Given the description of an element on the screen output the (x, y) to click on. 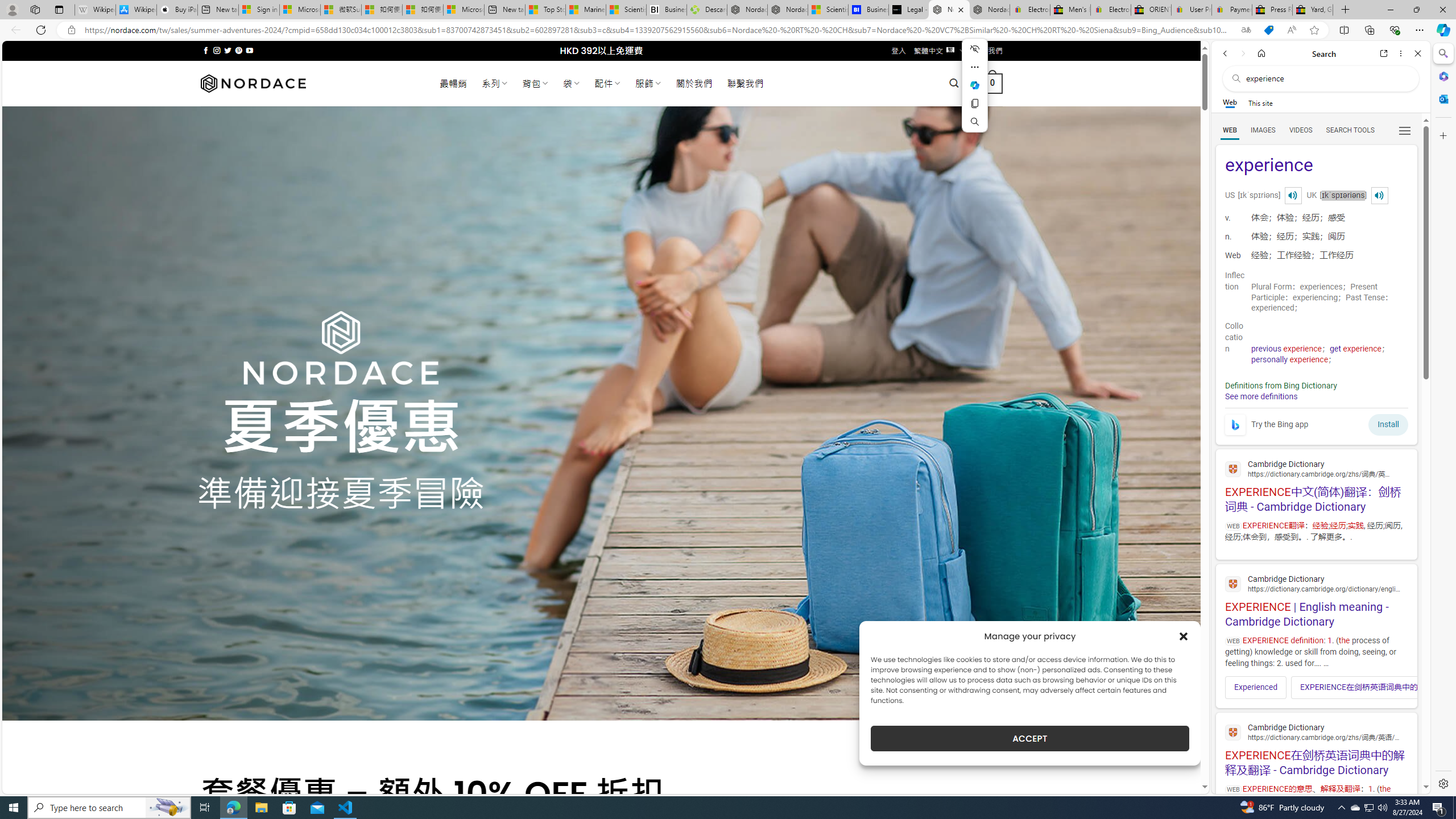
previous experience (1286, 348)
 0  (992, 83)
Copy (974, 103)
Follow on Twitter (227, 50)
